Given the description of an element on the screen output the (x, y) to click on. 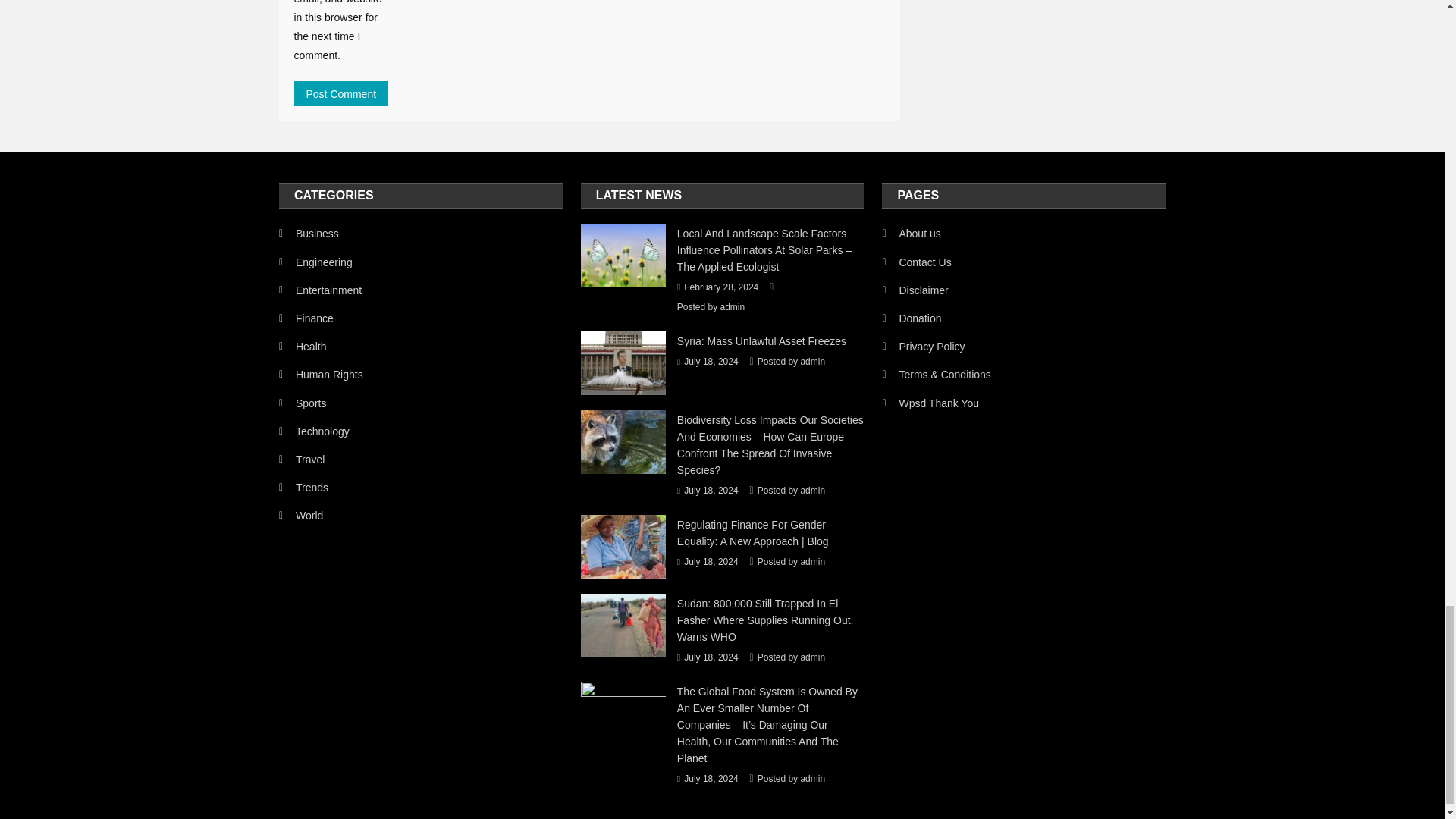
Post Comment (341, 93)
